Given the description of an element on the screen output the (x, y) to click on. 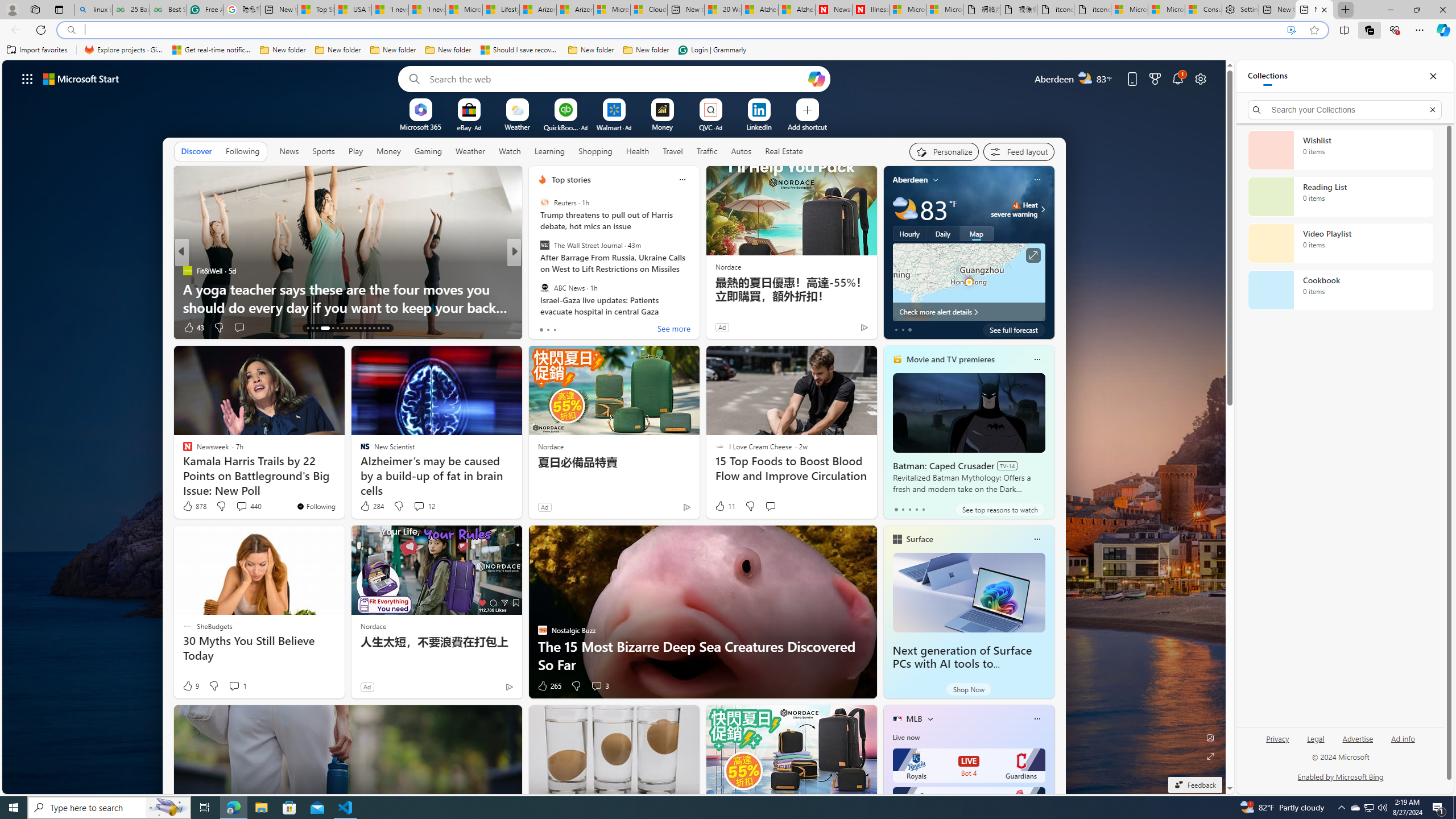
AutomationID: tab-15 (317, 328)
TODAY (537, 270)
Wishlist collection, 0 items (1339, 150)
Cookbook collection, 0 items (1339, 289)
Bloated? Gastroenterologists share how to relieve symptoms (697, 298)
Heat - Severe (1015, 204)
Movie and TV premieres (949, 359)
Shopping (595, 151)
AutomationID: tab-25 (368, 328)
Import favorites (36, 49)
